Given the description of an element on the screen output the (x, y) to click on. 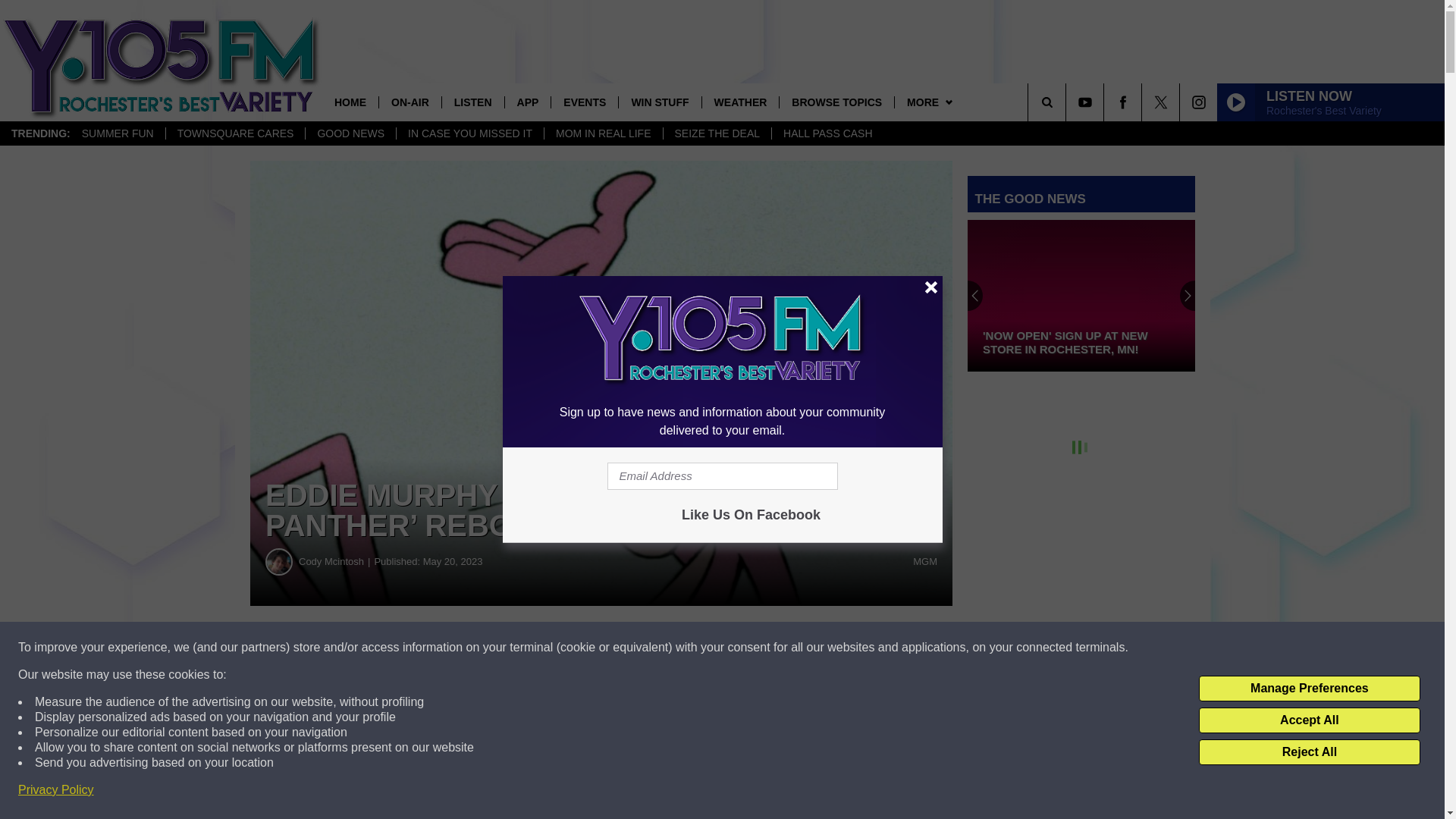
SEARCH (1068, 102)
Accept All (1309, 720)
ON-AIR (409, 102)
Share on Facebook (460, 647)
IN CASE YOU MISSED IT (469, 133)
TOWNSQUARE CARES (235, 133)
Manage Preferences (1309, 688)
GOOD NEWS (350, 133)
LISTEN (472, 102)
Privacy Policy (55, 789)
SEARCH (1068, 102)
APP (527, 102)
Reject All (1309, 751)
SUMMER FUN (117, 133)
MOM IN REAL LIFE (602, 133)
